Given the description of an element on the screen output the (x, y) to click on. 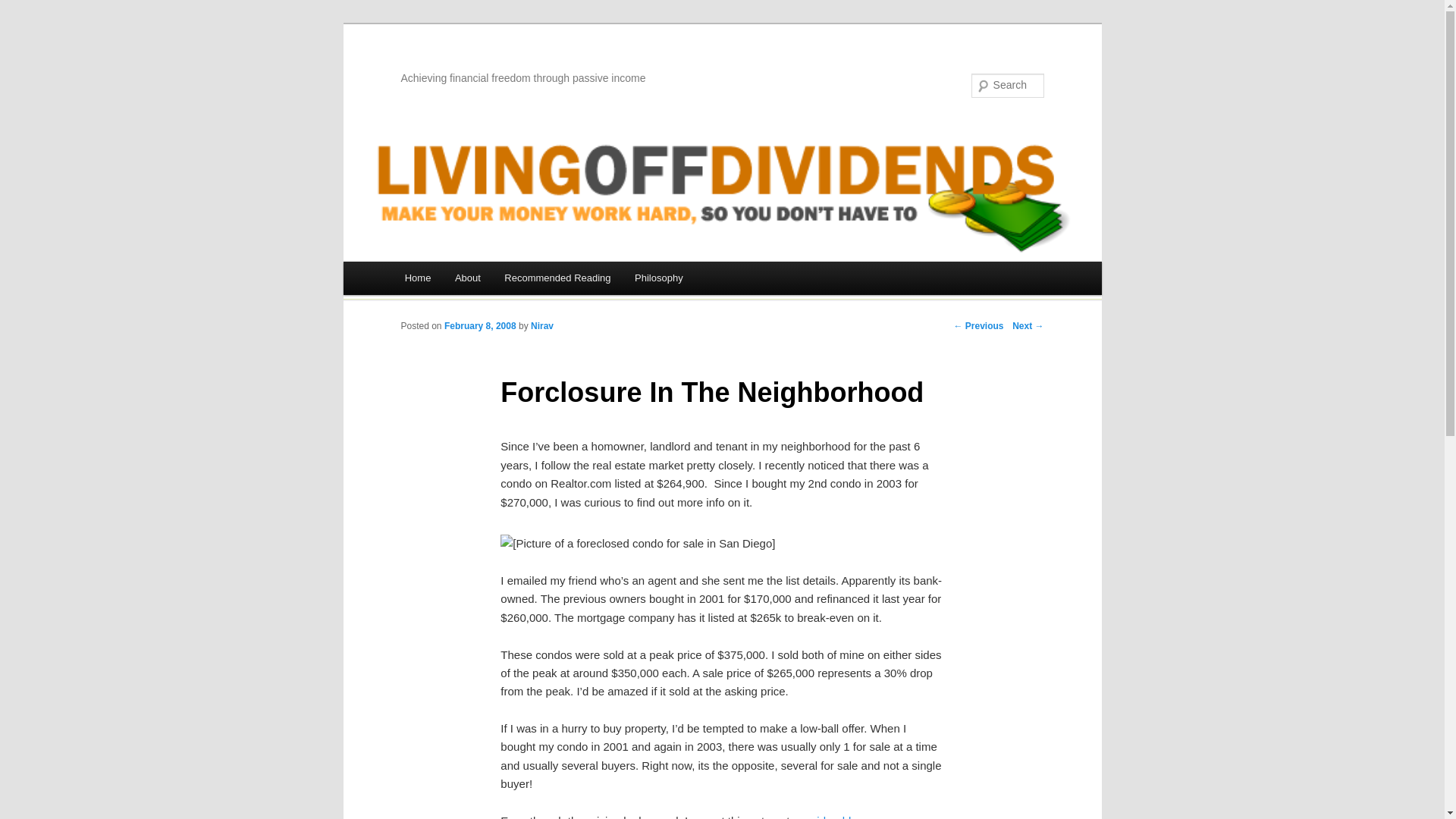
Home (417, 277)
Recommended Reading (558, 277)
View all posts by Nirav (542, 326)
Skip to content (414, 318)
Philosophy (658, 277)
Nirav (542, 326)
considerably worse (841, 816)
Search (24, 8)
Skip to content (414, 318)
About (467, 277)
February 8, 2008 (480, 326)
